Given the description of an element on the screen output the (x, y) to click on. 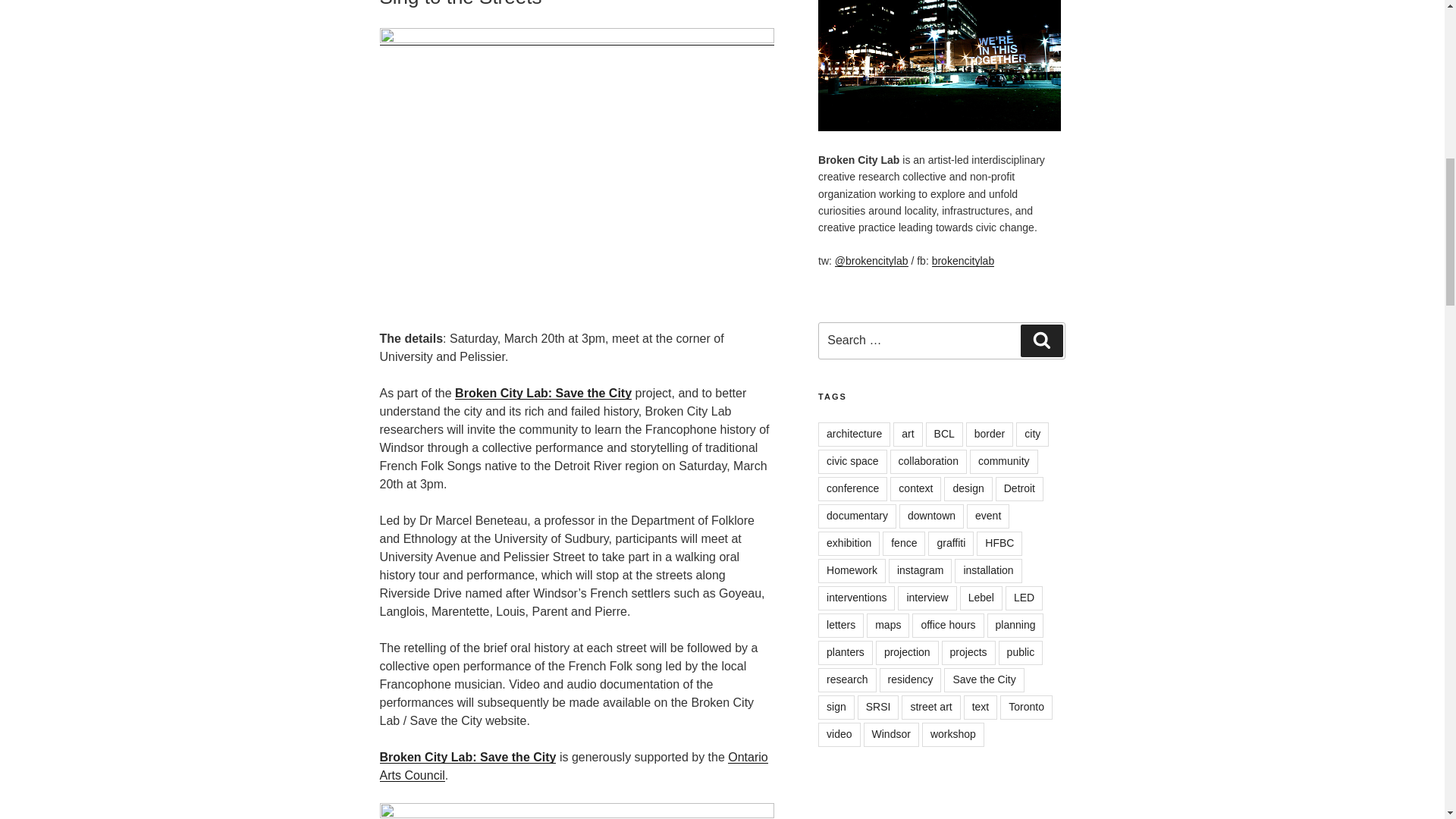
Broken City Lab: Save the City (467, 757)
art (907, 434)
Ontario Arts Council (572, 766)
architecture (853, 434)
BCL (944, 434)
border (989, 434)
Search (1041, 340)
Broken City Lab: Save the City - Sing to the Streets (575, 169)
city (1032, 434)
collaboration (927, 461)
civic space (852, 461)
Broken City Lab: Save the City (542, 392)
Ontario Arts Council (575, 811)
brokencitylab (962, 260)
